Given the description of an element on the screen output the (x, y) to click on. 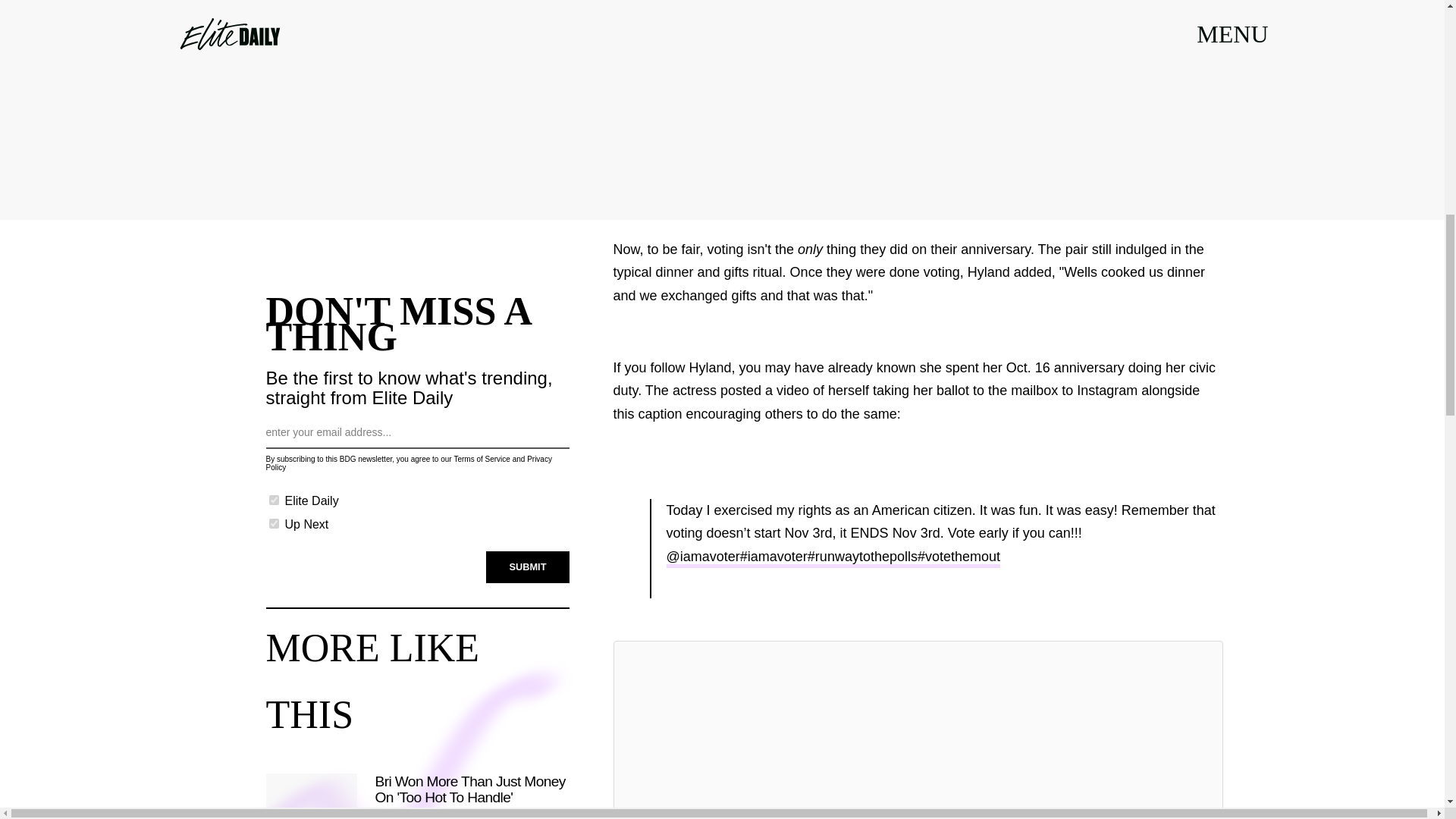
View on Instagram (917, 815)
Privacy Policy (407, 463)
SUBMIT (527, 567)
Terms of Service (480, 459)
